Given the description of an element on the screen output the (x, y) to click on. 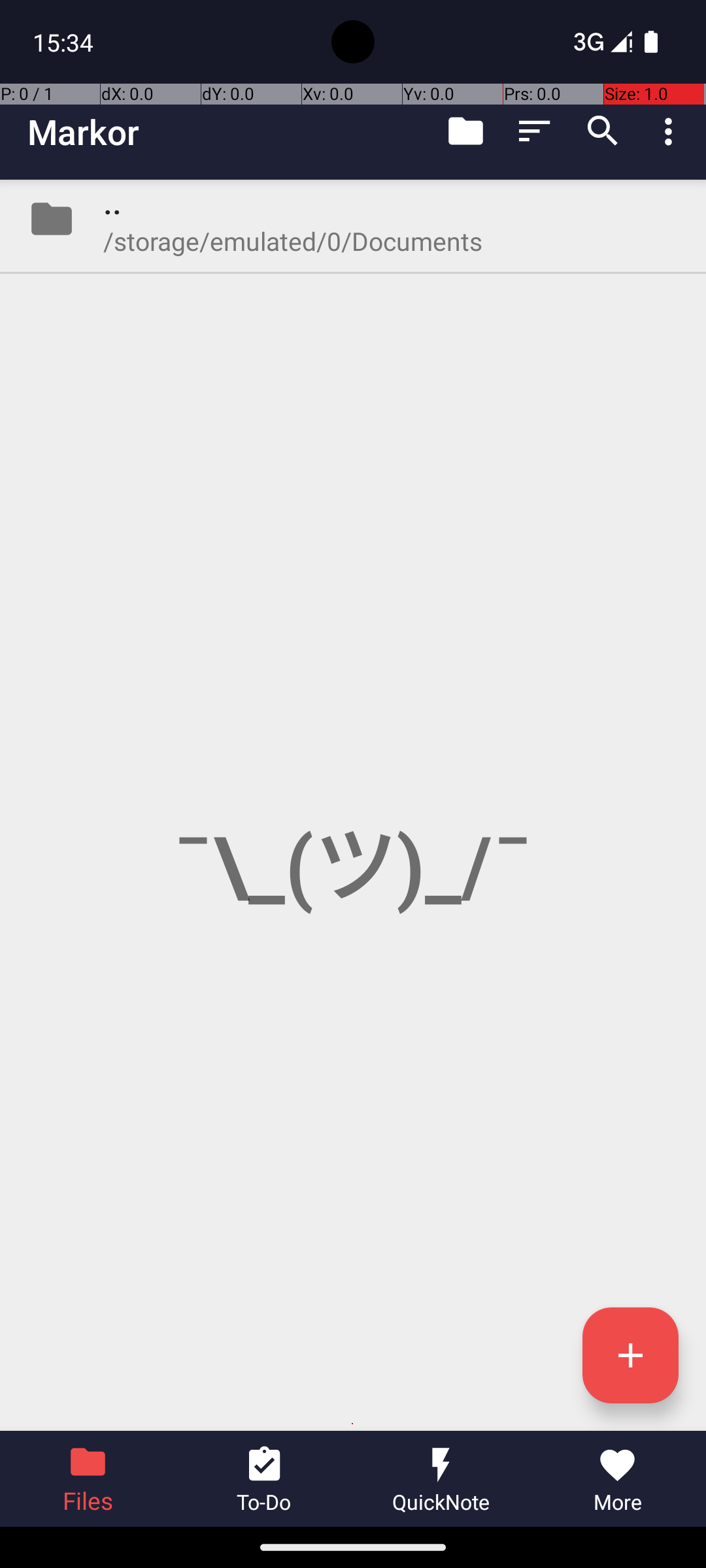
¯\_(ツ)_/¯ Element type: android.widget.TextView (353, 804)
